Given the description of an element on the screen output the (x, y) to click on. 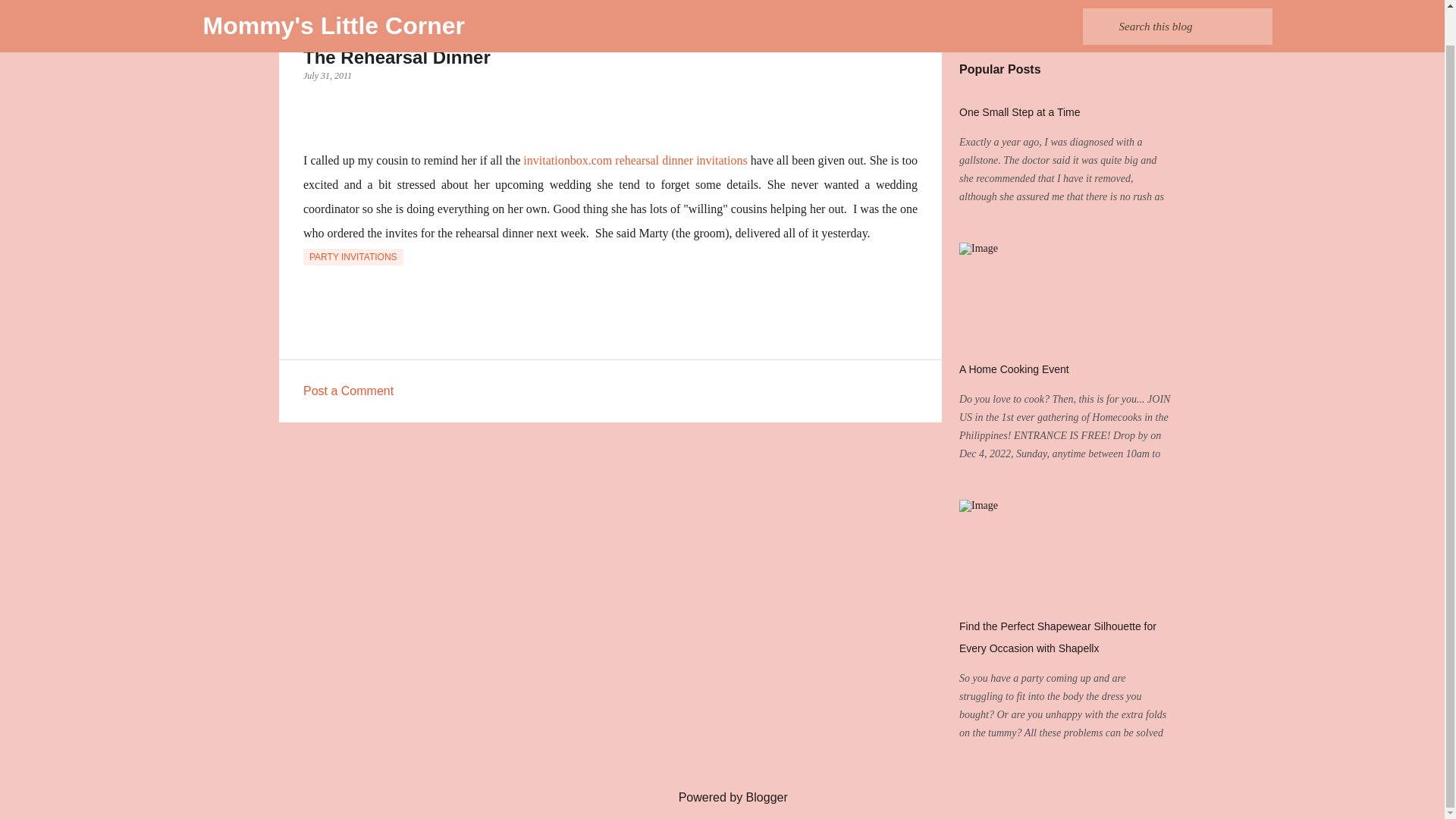
Post a Comment (347, 390)
PARTY INVITATIONS (352, 256)
permanent link (327, 75)
invitationbox.com rehearsal dinner invitations (634, 160)
One Small Step at a Time (1019, 111)
Powered by Blogger (721, 797)
Mommy's Little Corner (333, 1)
July 31, 2011 (327, 75)
A Home Cooking Event (1013, 369)
